Given the description of an element on the screen output the (x, y) to click on. 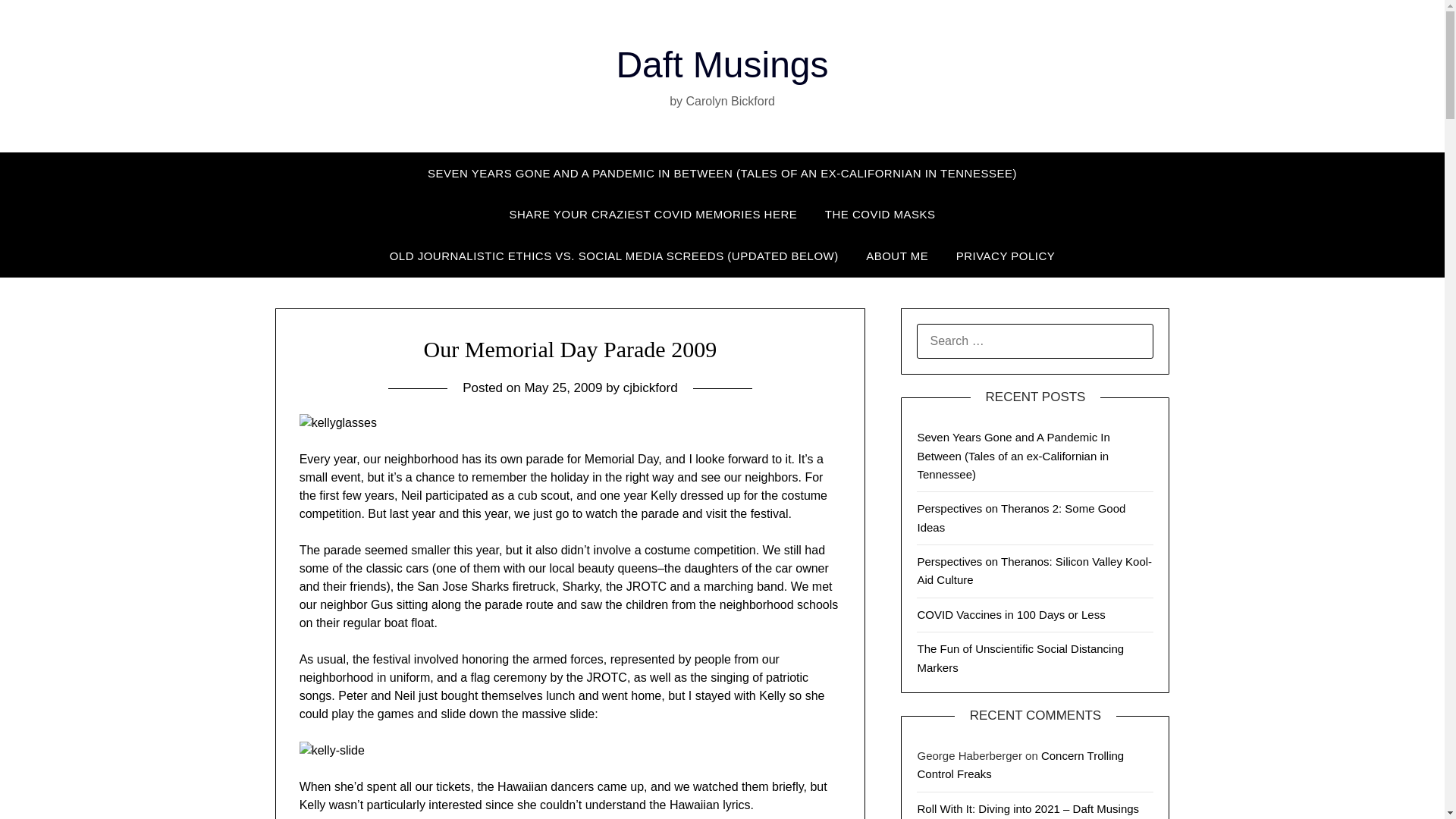
THE COVID MASKS (879, 214)
Perspectives on Theranos: Silicon Valley Kool-Aid Culture (1034, 570)
SHARE YOUR CRAZIEST COVID MEMORIES HERE (652, 214)
kelly-slide (332, 751)
Concern Trolling Control Freaks (1020, 764)
Perspectives on Theranos 2: Some Good Ideas (1021, 517)
May 25, 2009 (563, 387)
Daft Musings (721, 65)
COVID Vaccines in 100 Days or Less (1011, 614)
ABOUT ME (896, 255)
The Fun of Unscientific Social Distancing Markers (1020, 657)
cjbickford (650, 387)
kellyglasses (338, 423)
Search (38, 22)
PRIVACY POLICY (1005, 255)
